Given the description of an element on the screen output the (x, y) to click on. 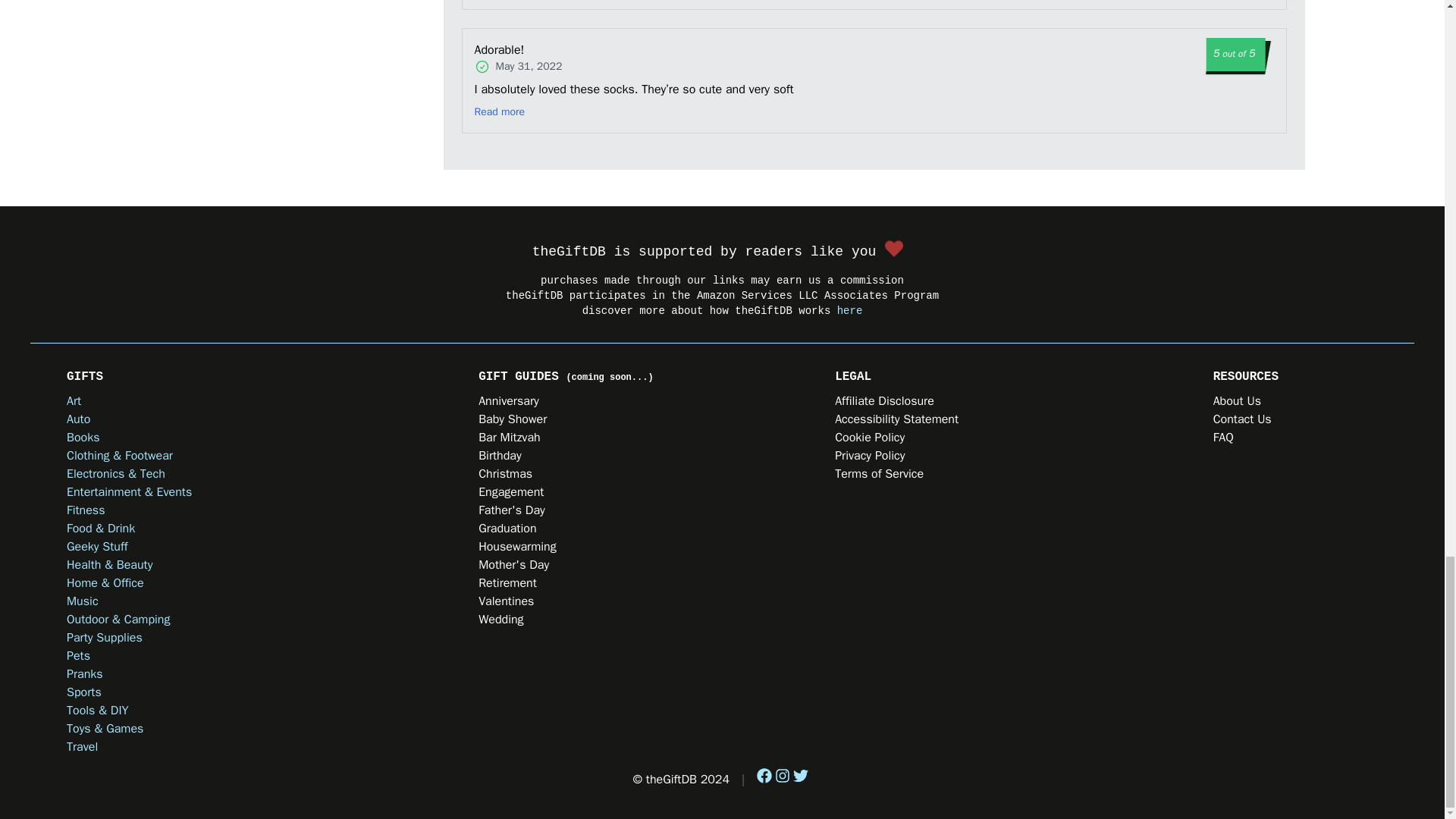
Adorable! (533, 49)
